Given the description of an element on the screen output the (x, y) to click on. 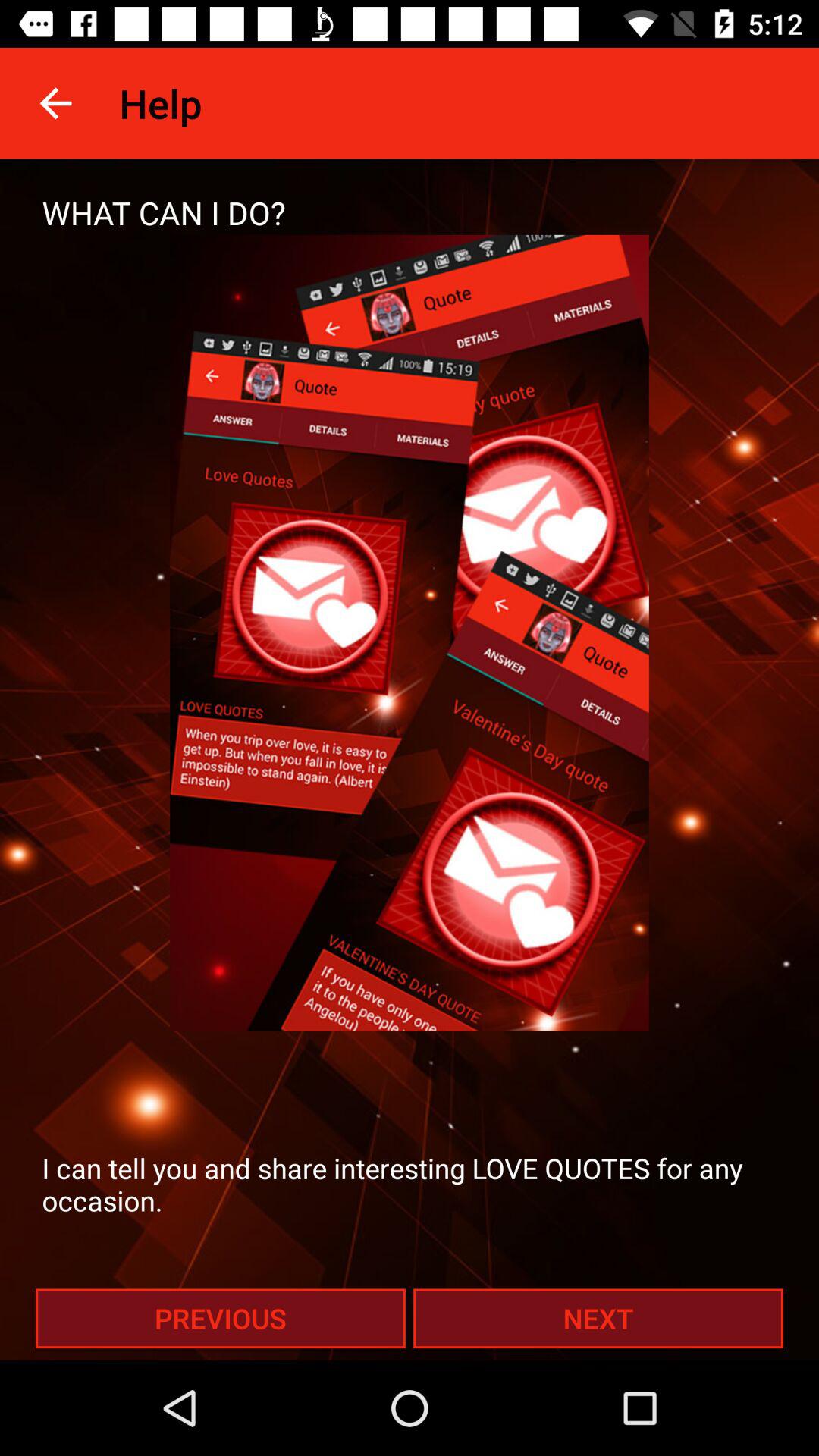
flip to the previous icon (220, 1318)
